Given the description of an element on the screen output the (x, y) to click on. 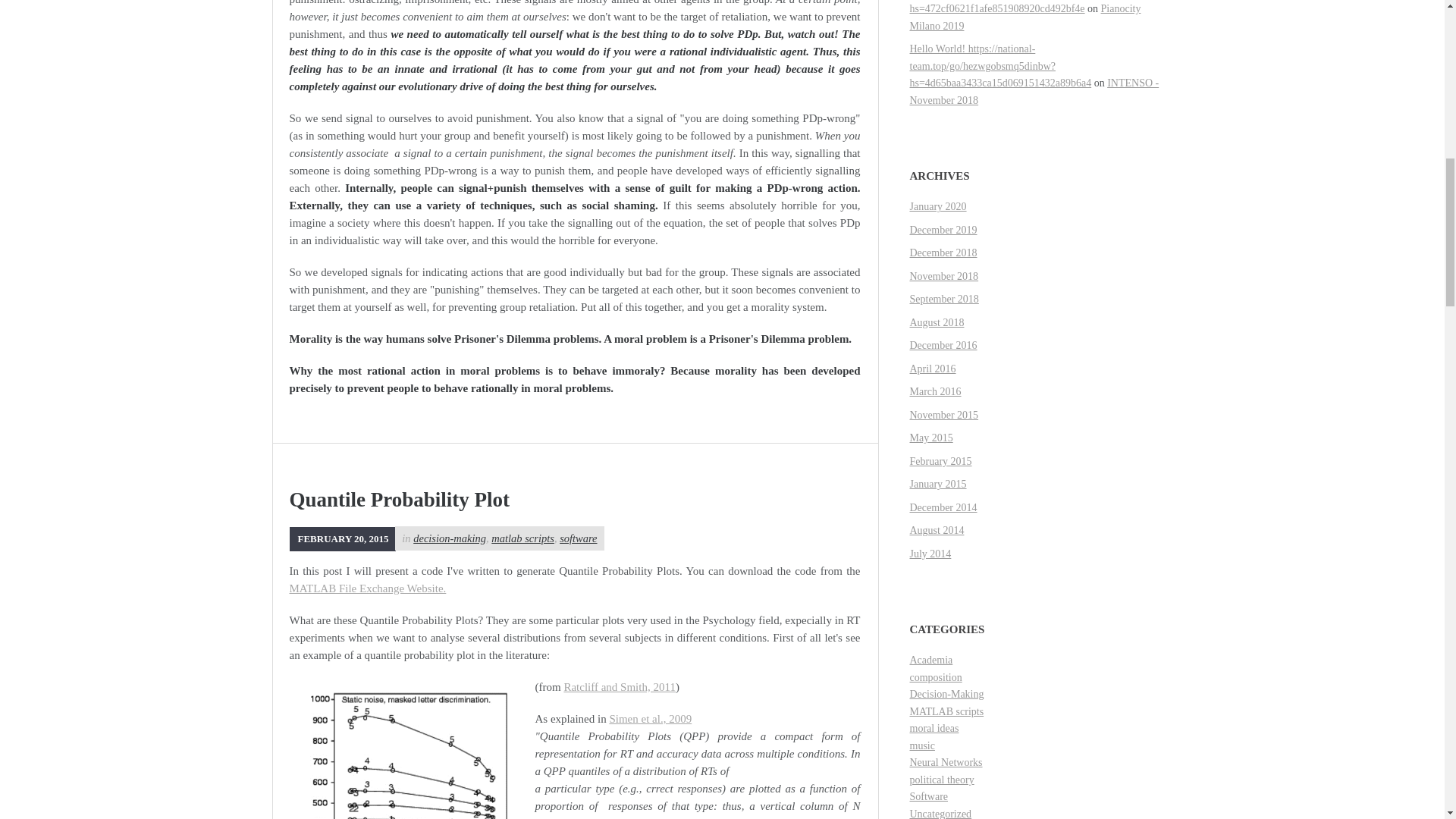
matlab scripts (523, 538)
Quantile Probability Plot (342, 538)
MATLAB File Exchange Website. (367, 588)
Ratcliff and Smith, 2011 (619, 686)
decision-making (449, 538)
FEBRUARY 20, 2015 (342, 538)
software (577, 538)
Quantile Probability Plot (400, 499)
Quantile Probability Plot (400, 499)
Simen et al., 2009 (649, 718)
